Given the description of an element on the screen output the (x, y) to click on. 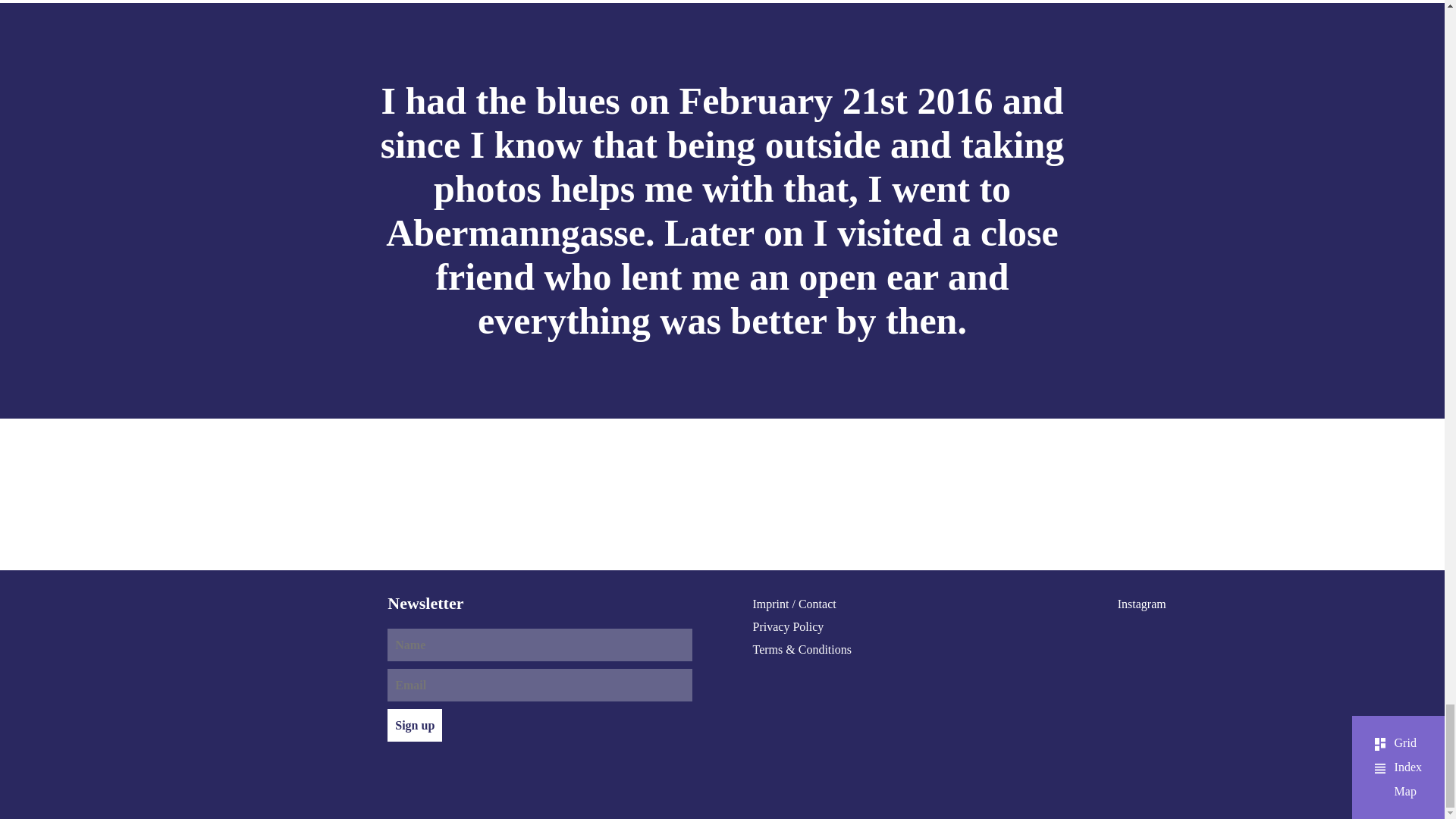
Sign up (414, 725)
Privacy Policy (788, 626)
Sign up (414, 725)
